Given the description of an element on the screen output the (x, y) to click on. 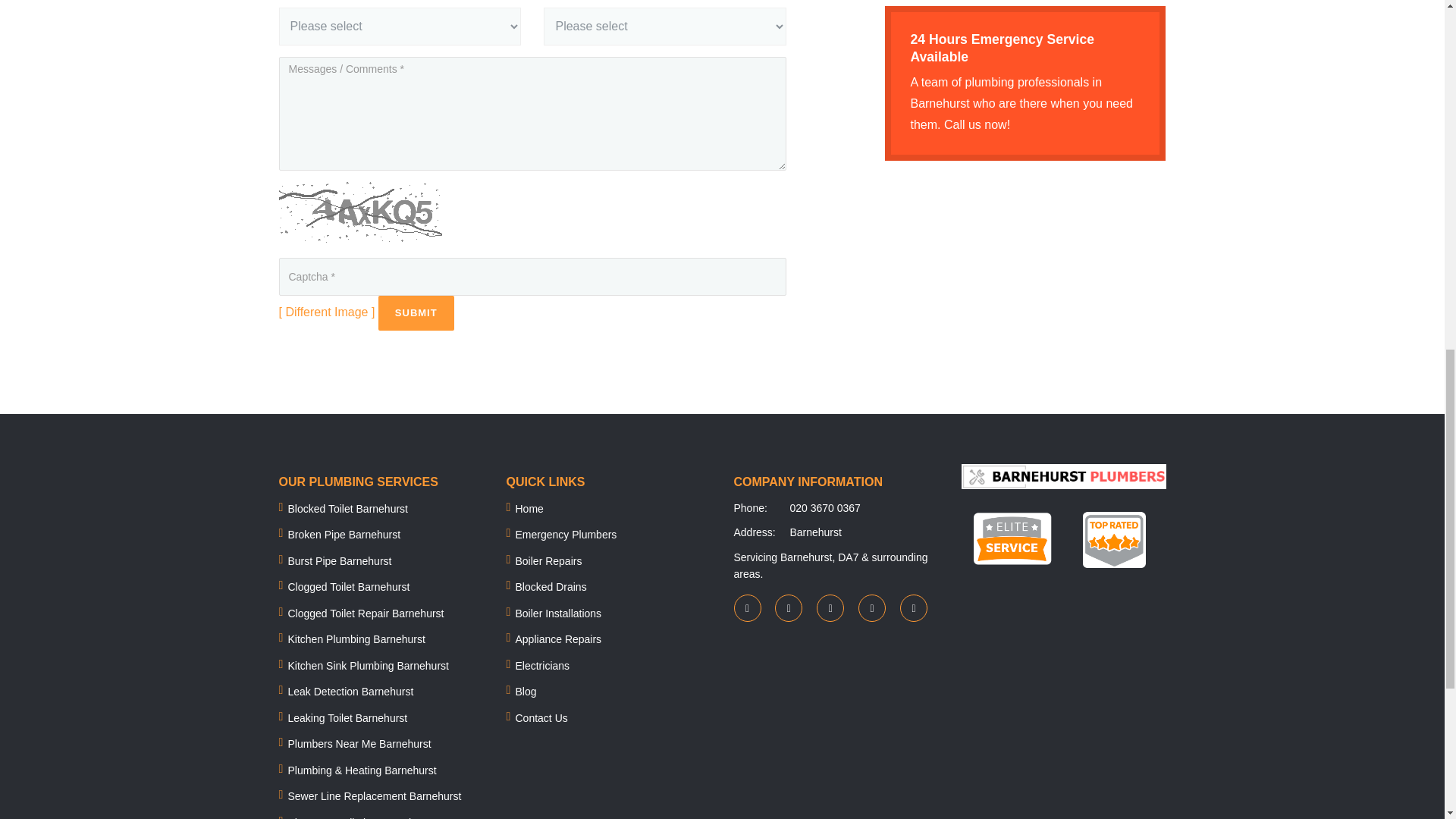
Kitchen Plumbing Barnehurst (356, 639)
Emergency Plumbers (566, 534)
Appliance Repairs (558, 639)
Plumbers Near Me Barnehurst (359, 743)
Electricians (542, 665)
Blocked Drains (550, 586)
Home (529, 508)
Sewer Line Replacement Barnehurst (374, 796)
SUBMIT (416, 312)
Clogged Toilet Repair Barnehurst (366, 613)
Boiler Repairs (548, 561)
Broken Pipe Barnehurst (344, 534)
Clogged Toilet Barnehurst (349, 586)
Boiler Installations (558, 613)
Blocked Toilet Barnehurst (348, 508)
